Given the description of an element on the screen output the (x, y) to click on. 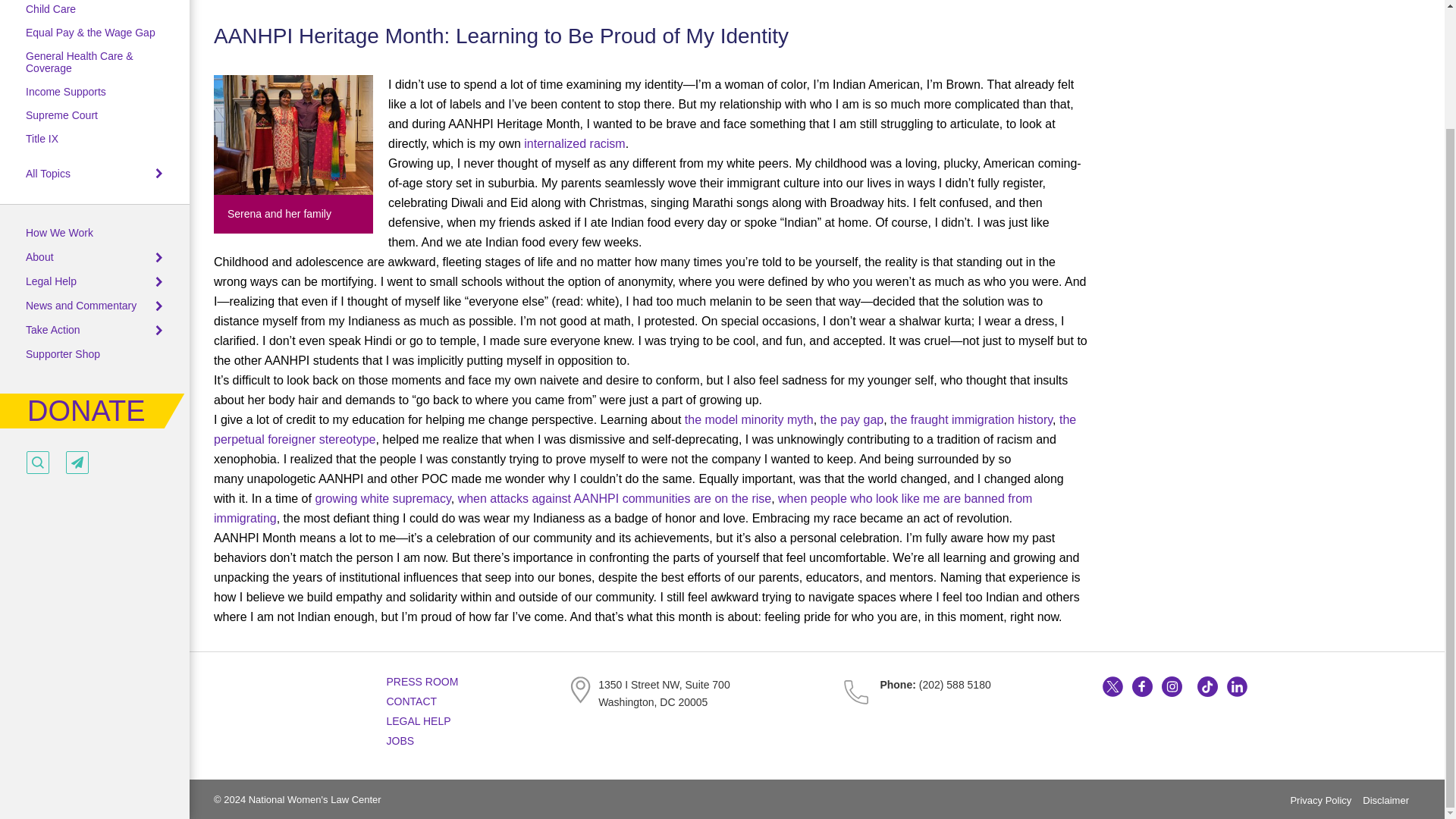
Child Care (50, 9)
Income Supports (66, 91)
All Topics (47, 173)
Supreme Court (61, 114)
Title IX (42, 138)
